Given the description of an element on the screen output the (x, y) to click on. 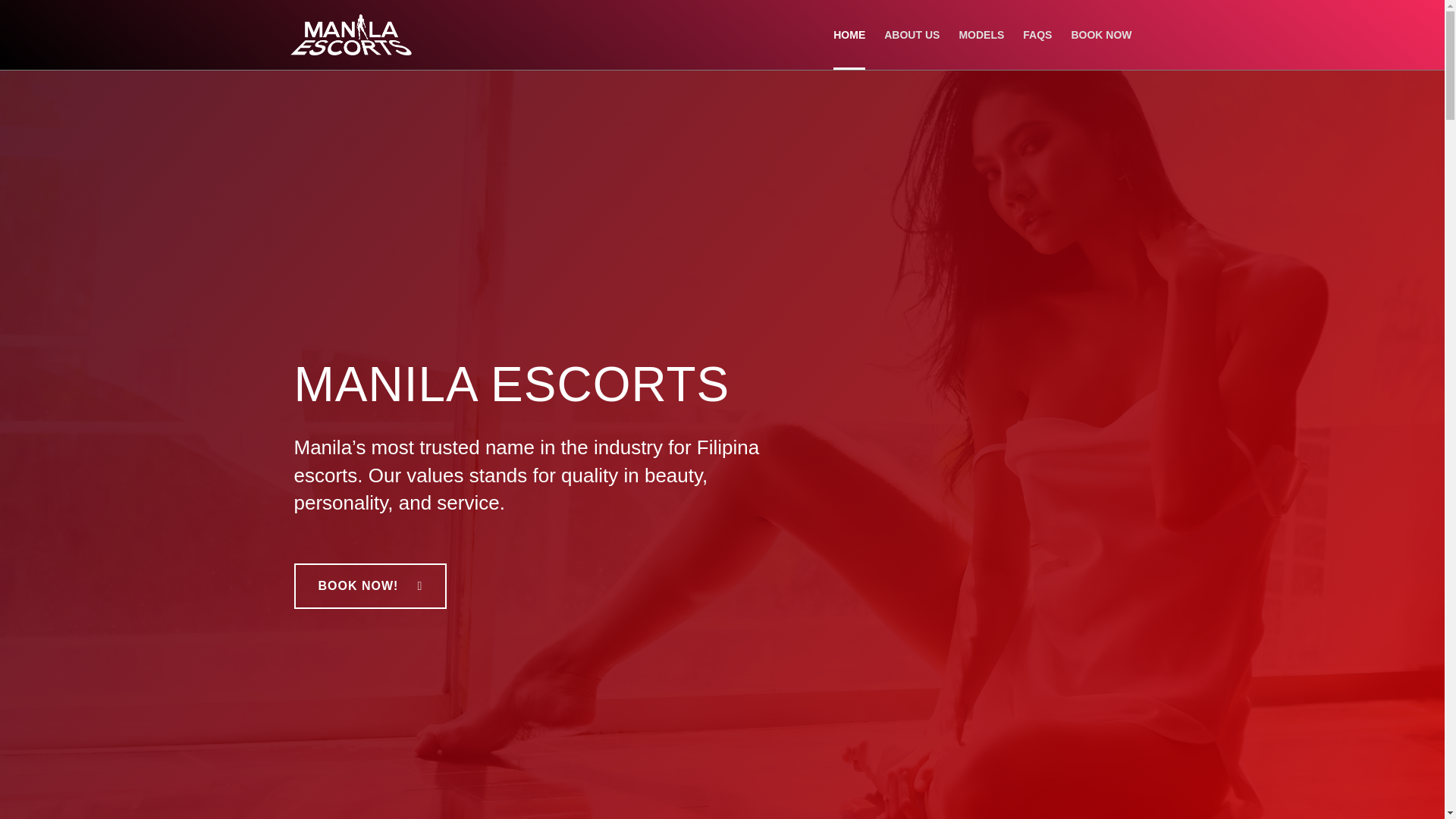
BOOK NOW! (370, 586)
